Given the description of an element on the screen output the (x, y) to click on. 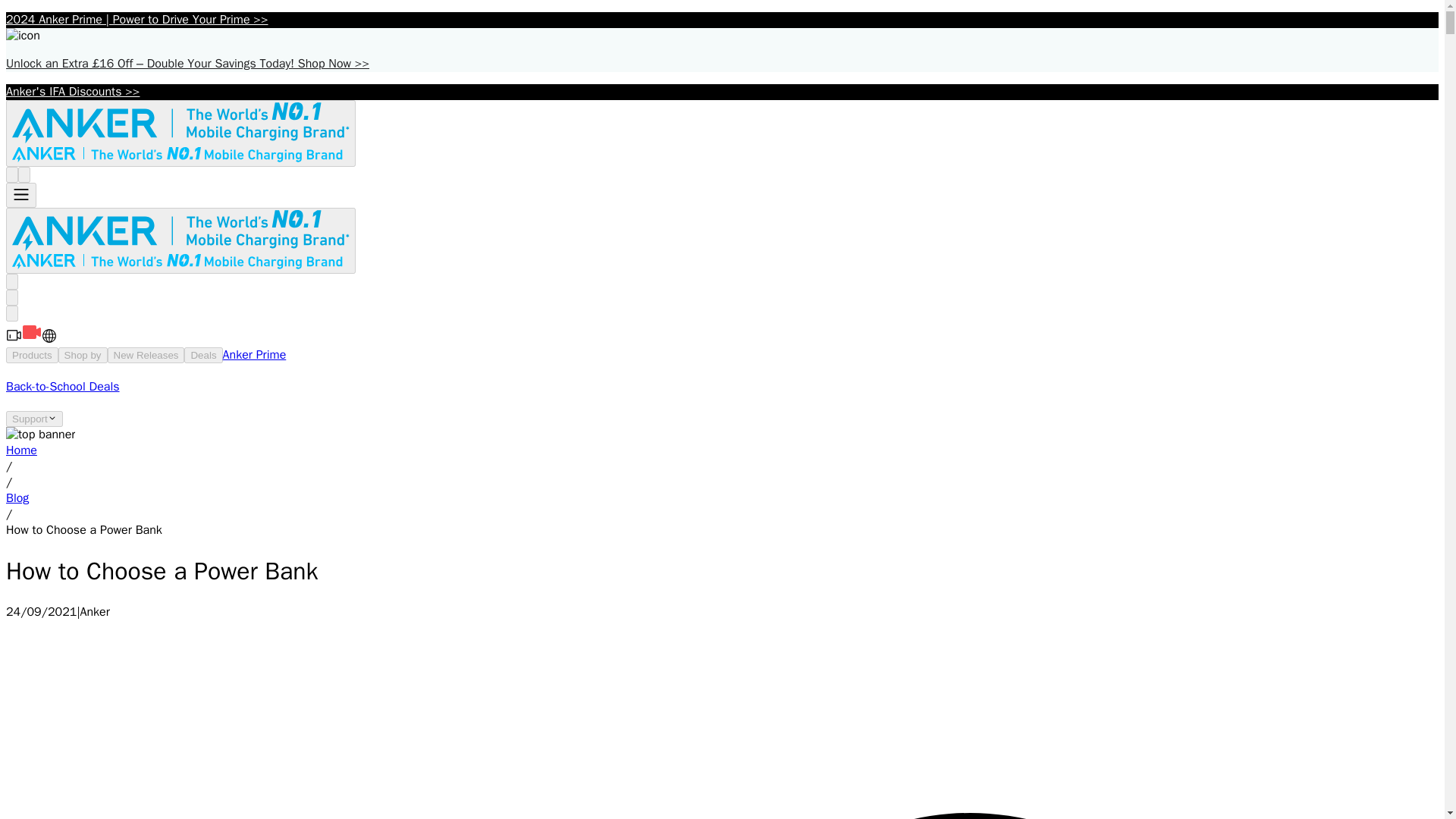
Blog (17, 498)
Deals (203, 355)
Shop by (82, 355)
New Releases (145, 355)
Home (21, 450)
Support (33, 418)
Products (31, 355)
